Given the description of an element on the screen output the (x, y) to click on. 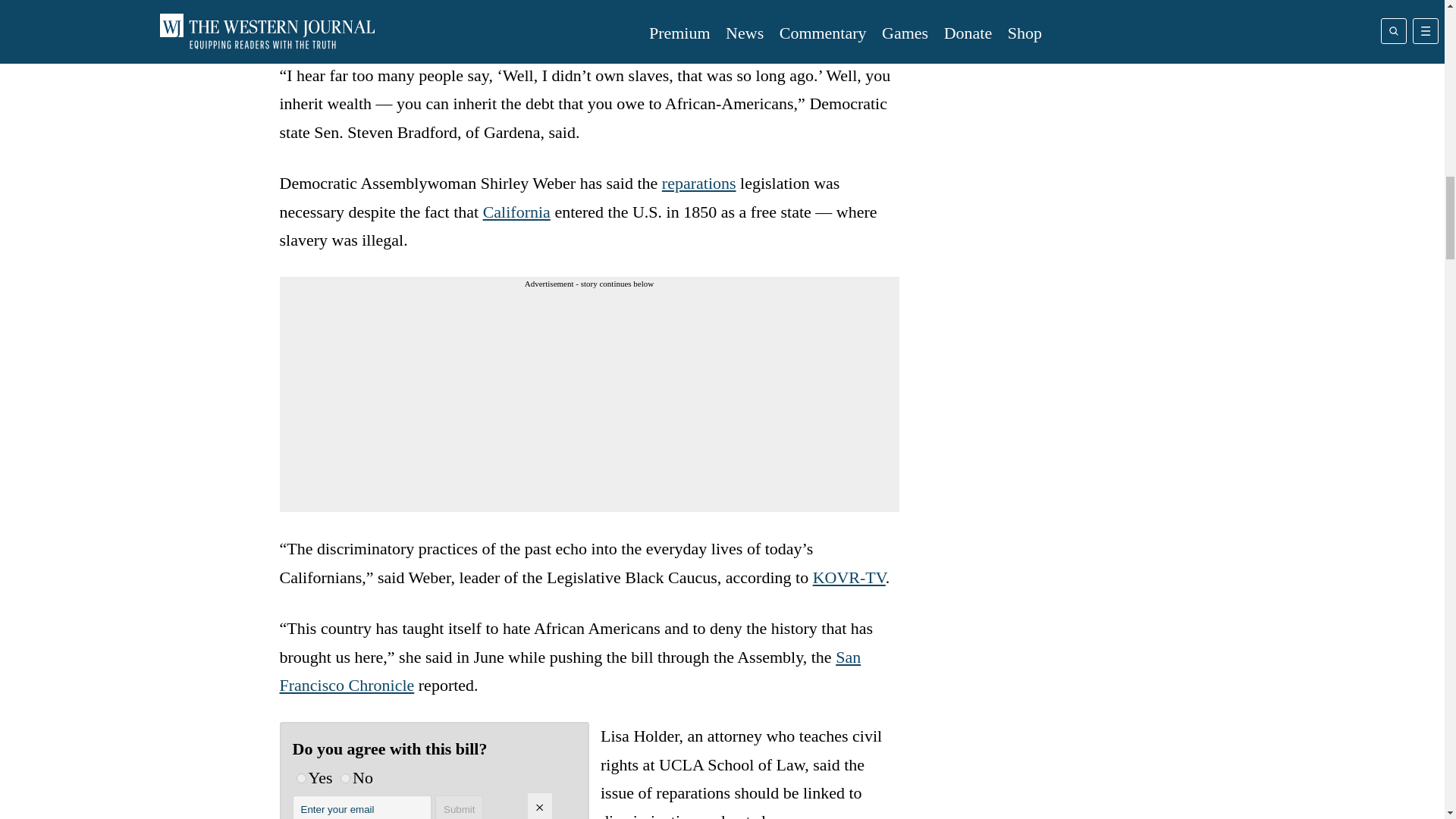
Submit (459, 807)
yes (300, 777)
no (345, 777)
